Given the description of an element on the screen output the (x, y) to click on. 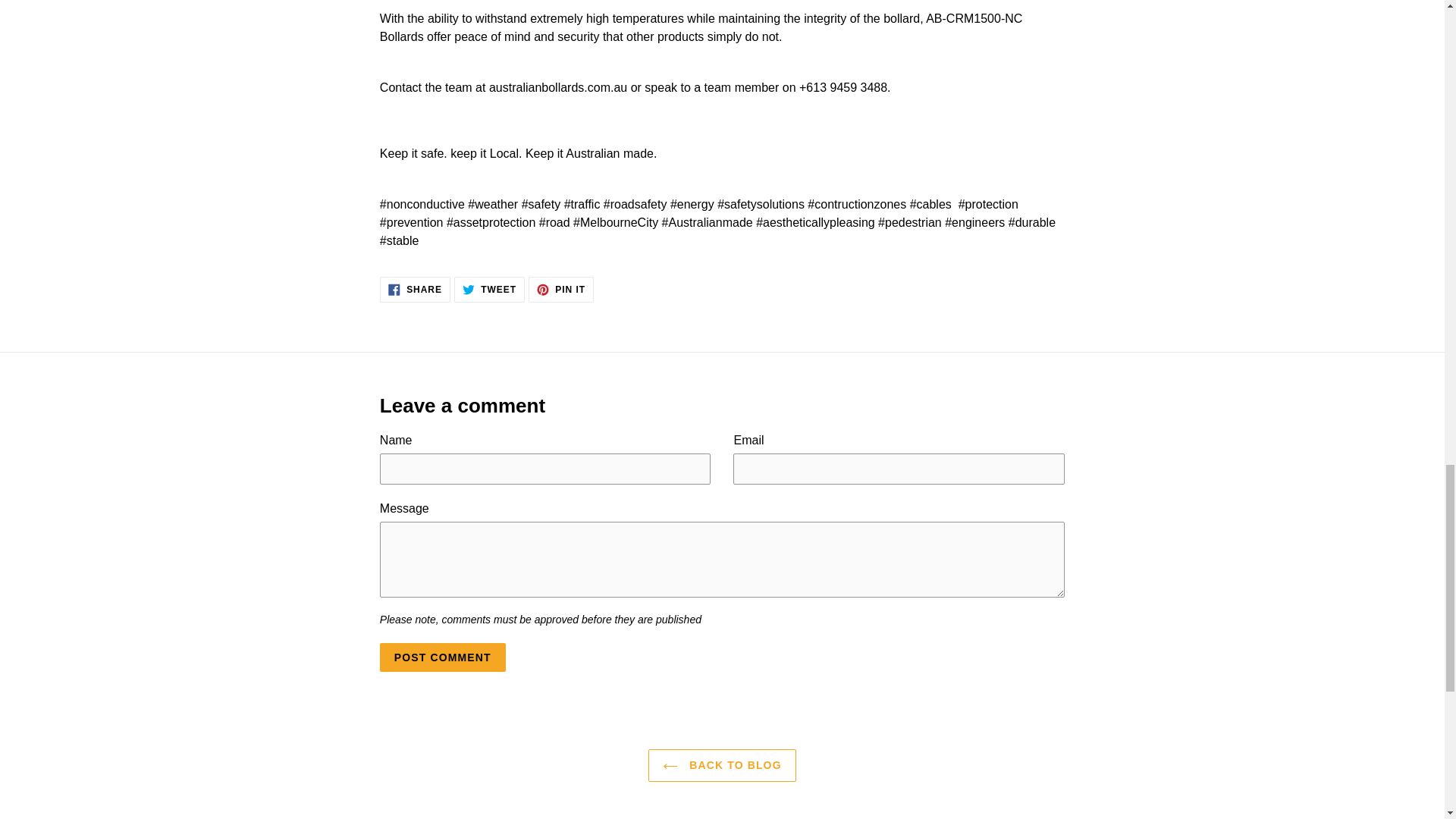
Post comment (442, 657)
